Given the description of an element on the screen output the (x, y) to click on. 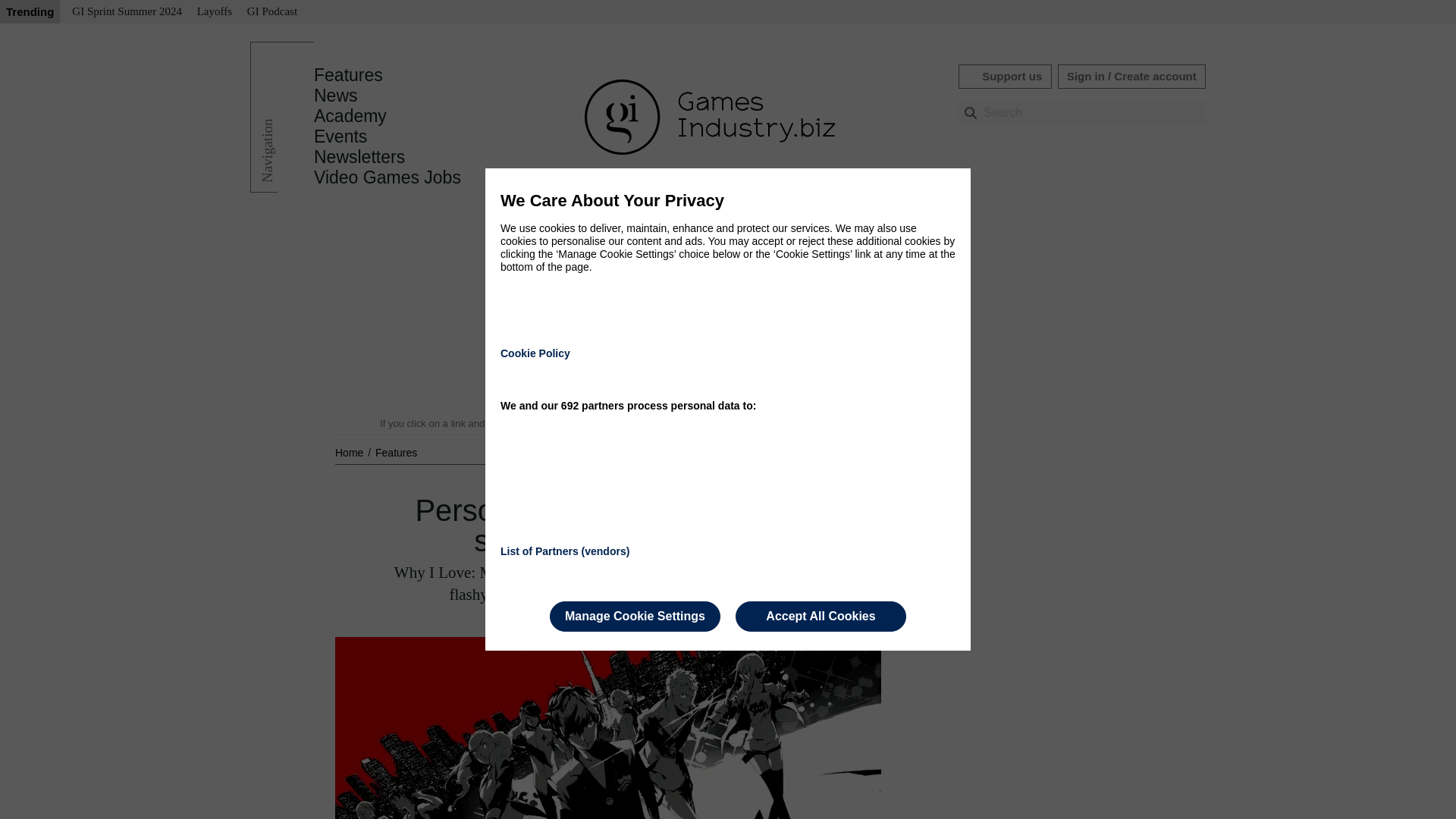
Home (350, 452)
Video Games Jobs (387, 177)
Video Games Jobs (387, 177)
Newsletters (359, 157)
Newsletters (359, 157)
News (336, 95)
GI Sprint Summer 2024 (126, 11)
GI Sprint Summer 2024 (126, 11)
Features (348, 75)
News (336, 95)
Events (340, 136)
Support us (1004, 75)
Layoffs (214, 11)
GI Podcast (271, 11)
Events (340, 136)
